Given the description of an element on the screen output the (x, y) to click on. 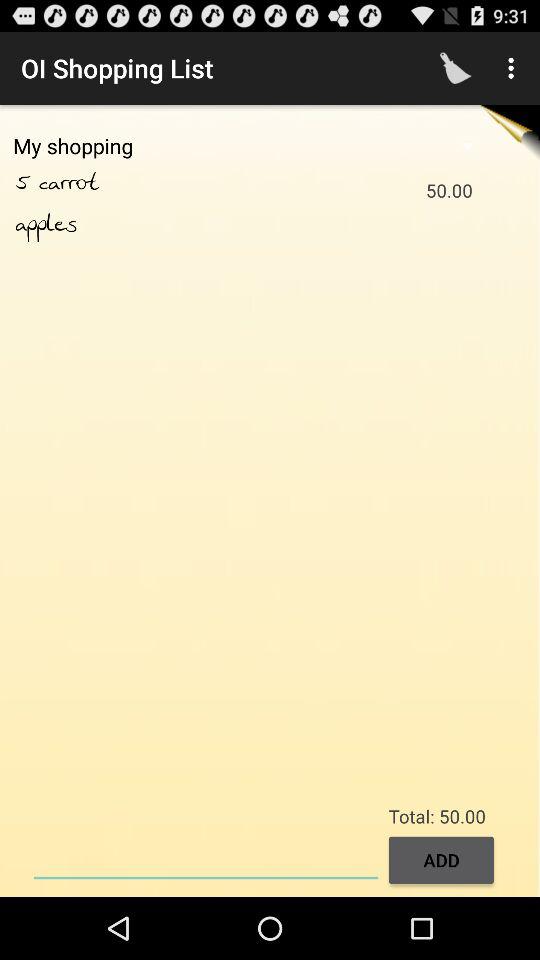
click app to the left of 50.00 item (90, 183)
